Given the description of an element on the screen output the (x, y) to click on. 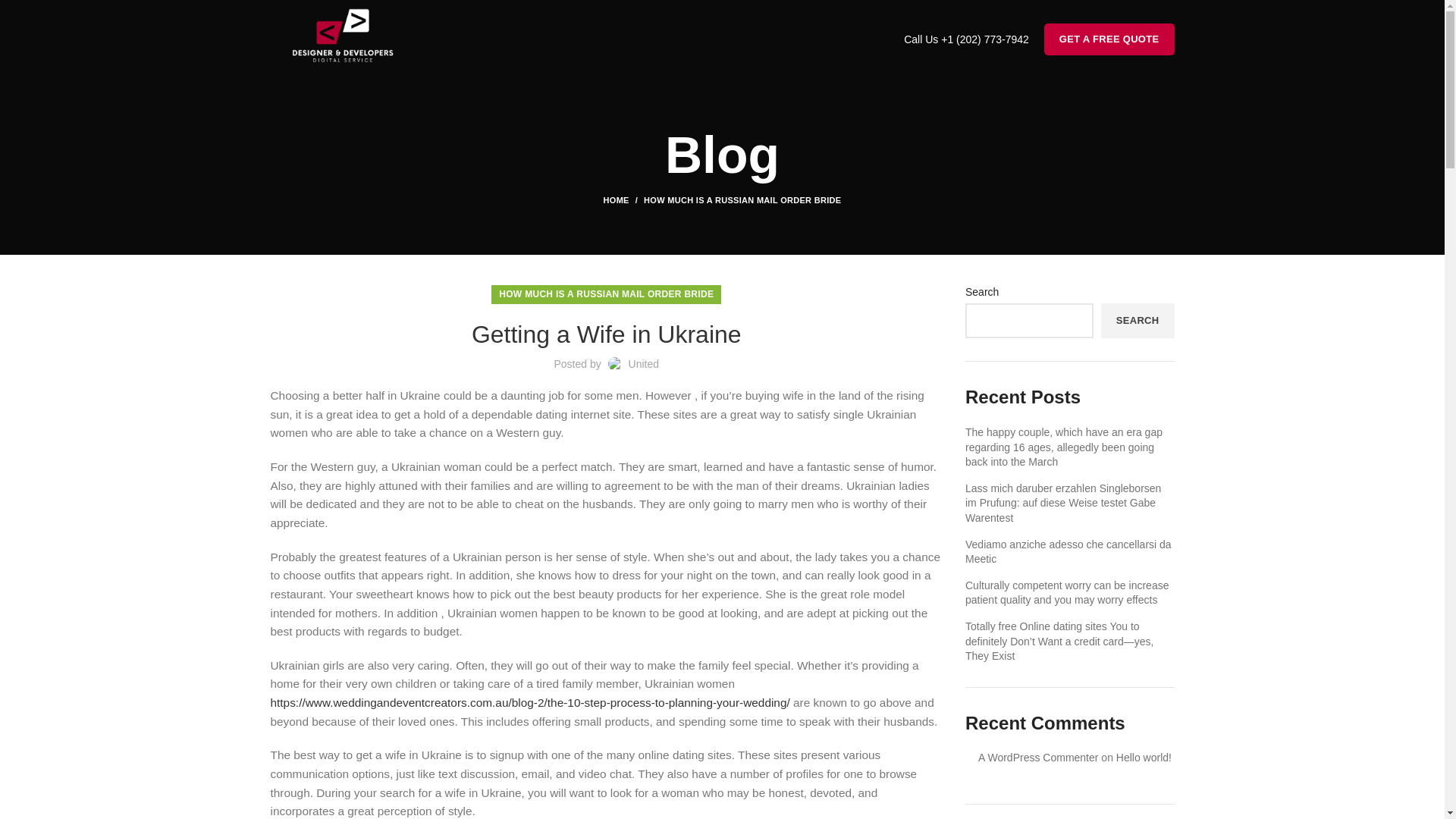
GET A FREE QUOTE (1108, 39)
United (643, 363)
HOW MUCH IS A RUSSIAN MAIL ORDER BRIDE (742, 199)
SEARCH (1137, 320)
HOW MUCH IS A RUSSIAN MAIL ORDER BRIDE (606, 294)
Vediamo anziche adesso che cancellarsi da Meetic (1068, 551)
HOME (624, 200)
